Given the description of an element on the screen output the (x, y) to click on. 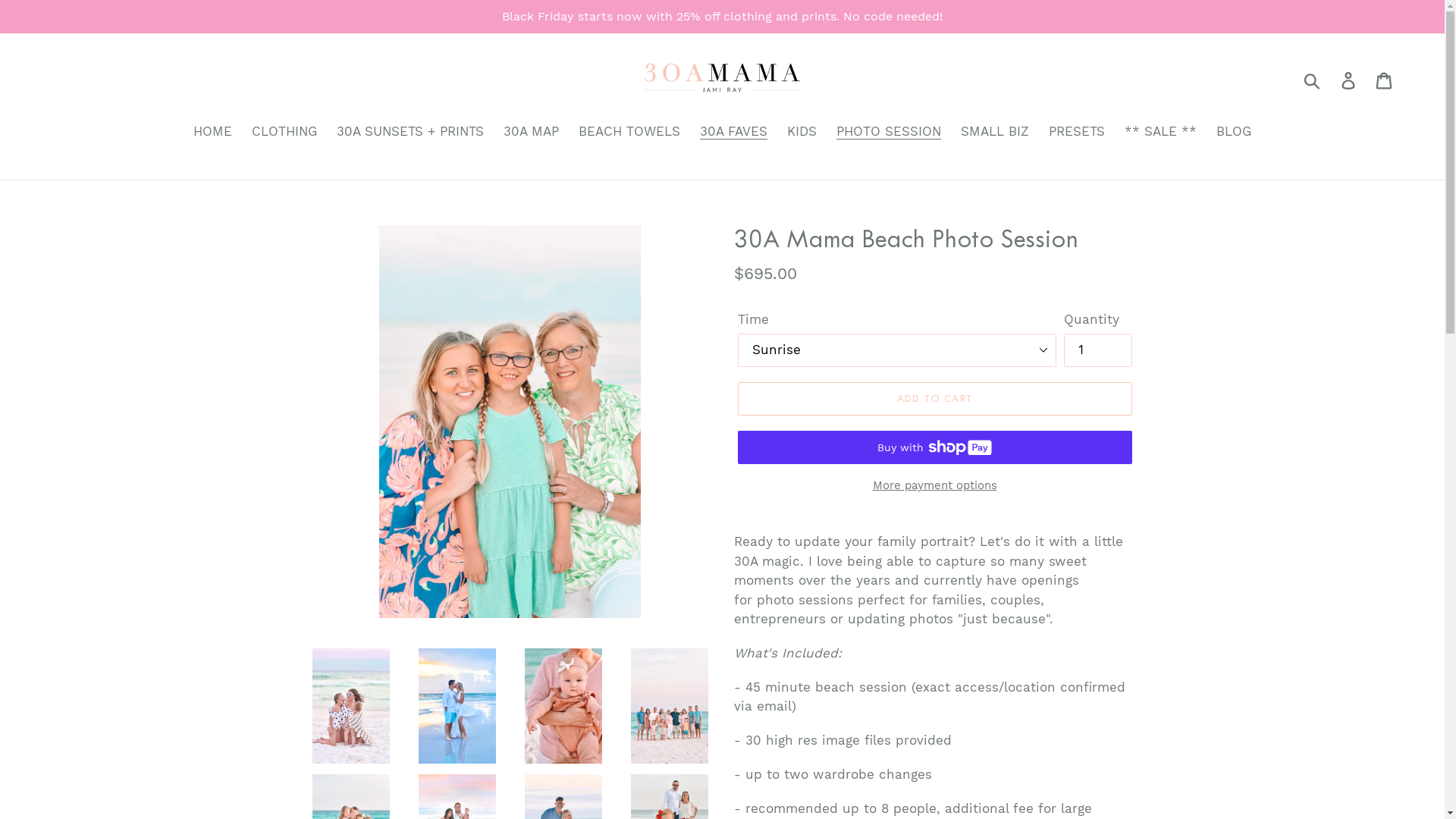
ADD TO CART Element type: text (934, 398)
CLOTHING Element type: text (284, 133)
PRESETS Element type: text (1076, 133)
Cart Element type: text (1384, 79)
SMALL BIZ Element type: text (994, 133)
Log in Element type: text (1349, 79)
30A MAP Element type: text (530, 133)
30A FAVES Element type: text (733, 133)
KIDS Element type: text (801, 133)
Submit Element type: text (1312, 79)
BEACH TOWELS Element type: text (629, 133)
30A SUNSETS + PRINTS Element type: text (410, 133)
** SALE ** Element type: text (1160, 133)
More payment options Element type: text (934, 485)
PHOTO SESSION Element type: text (888, 133)
HOME Element type: text (212, 133)
BLOG Element type: text (1233, 133)
